Given the description of an element on the screen output the (x, y) to click on. 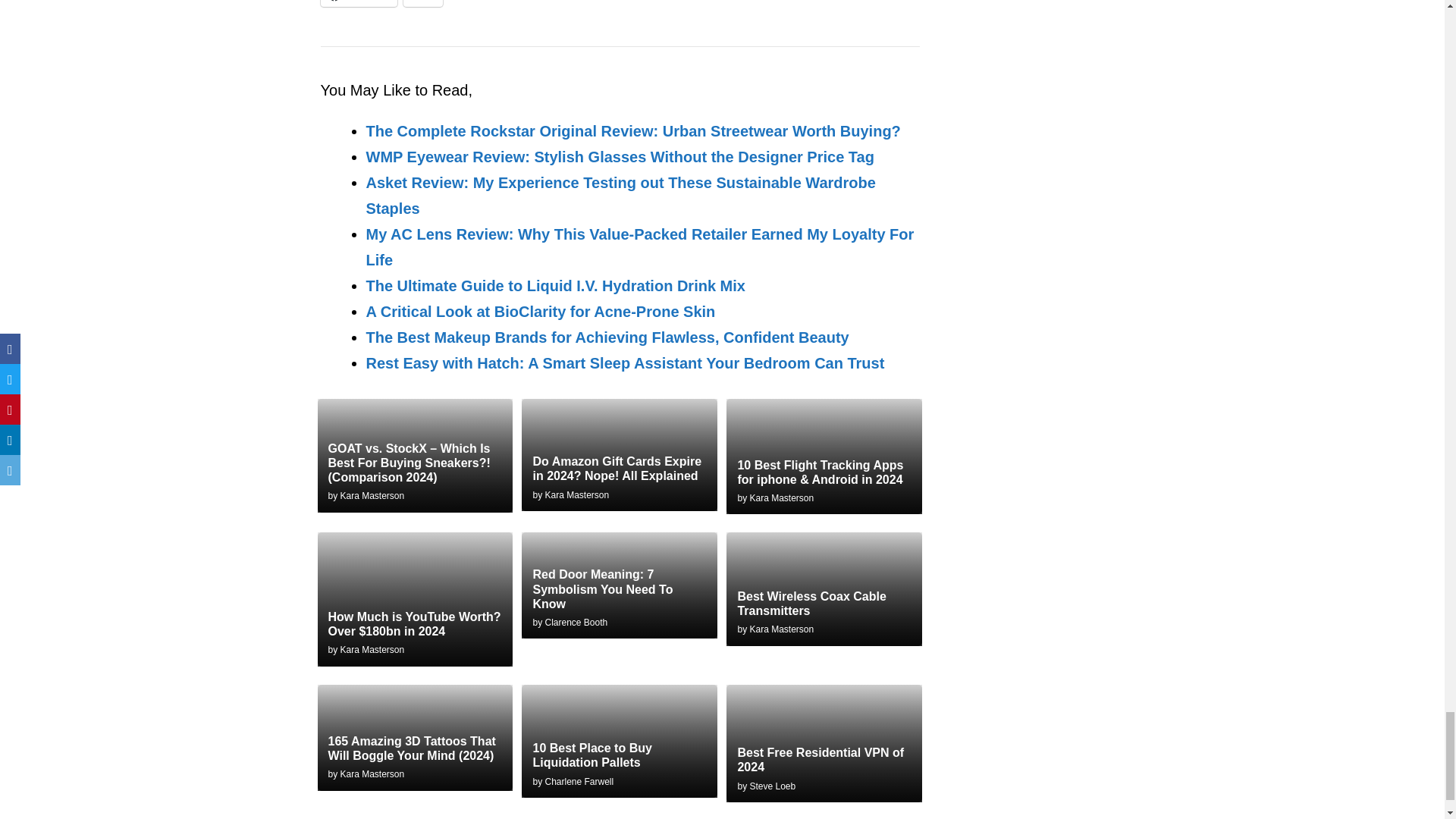
Click to share on X (423, 3)
A Critical Look at BioClarity for Acne-Prone Skin (539, 311)
The Ultimate Guide to Liquid I.V. Hydration Drink Mix (554, 285)
Click to share on Facebook (358, 3)
